Given the description of an element on the screen output the (x, y) to click on. 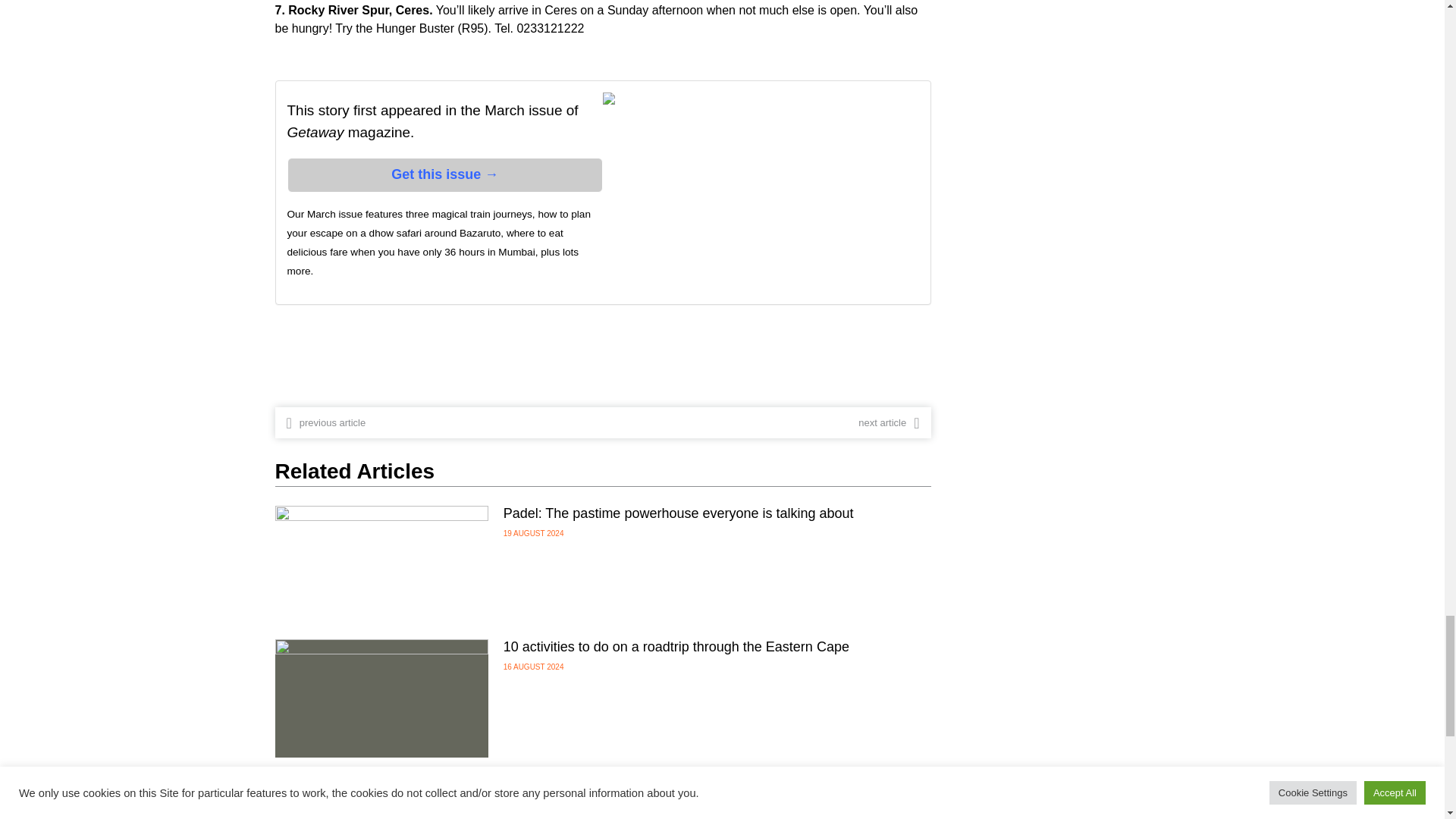
Quad biking and sandboarding the dunes of the Western Cape (381, 796)
Padel: The pastime powerhouse everyone is talking about (678, 513)
Quad biking and sandboarding the dunes of the Western Cape (692, 780)
10 activities to do on a roadtrip through the Eastern Cape (675, 646)
10 activities to do on a roadtrip through the Eastern Cape (381, 698)
Padel: The pastime powerhouse everyone is talking about (381, 565)
